Given the description of an element on the screen output the (x, y) to click on. 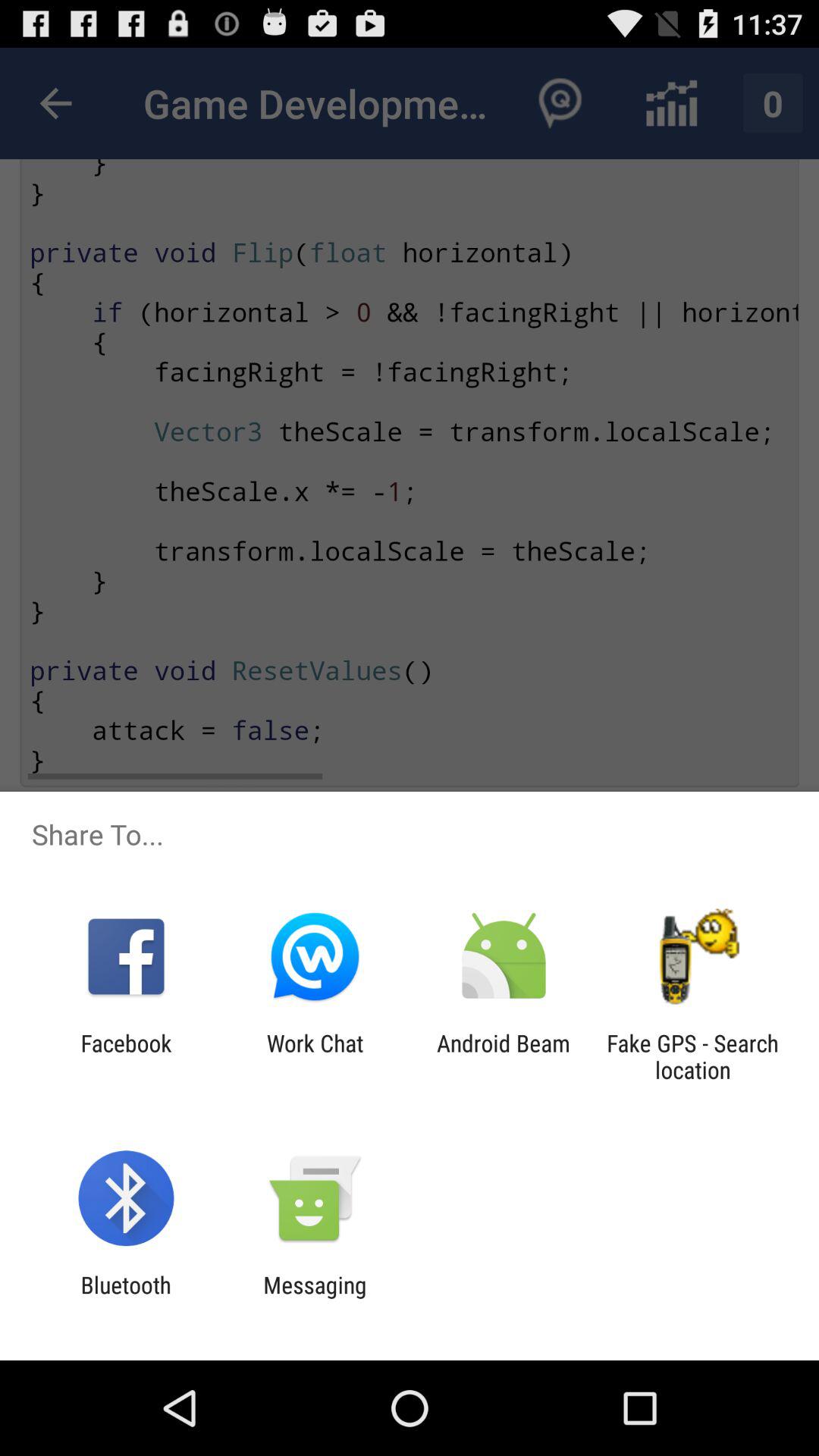
turn off app at the bottom right corner (692, 1056)
